Given the description of an element on the screen output the (x, y) to click on. 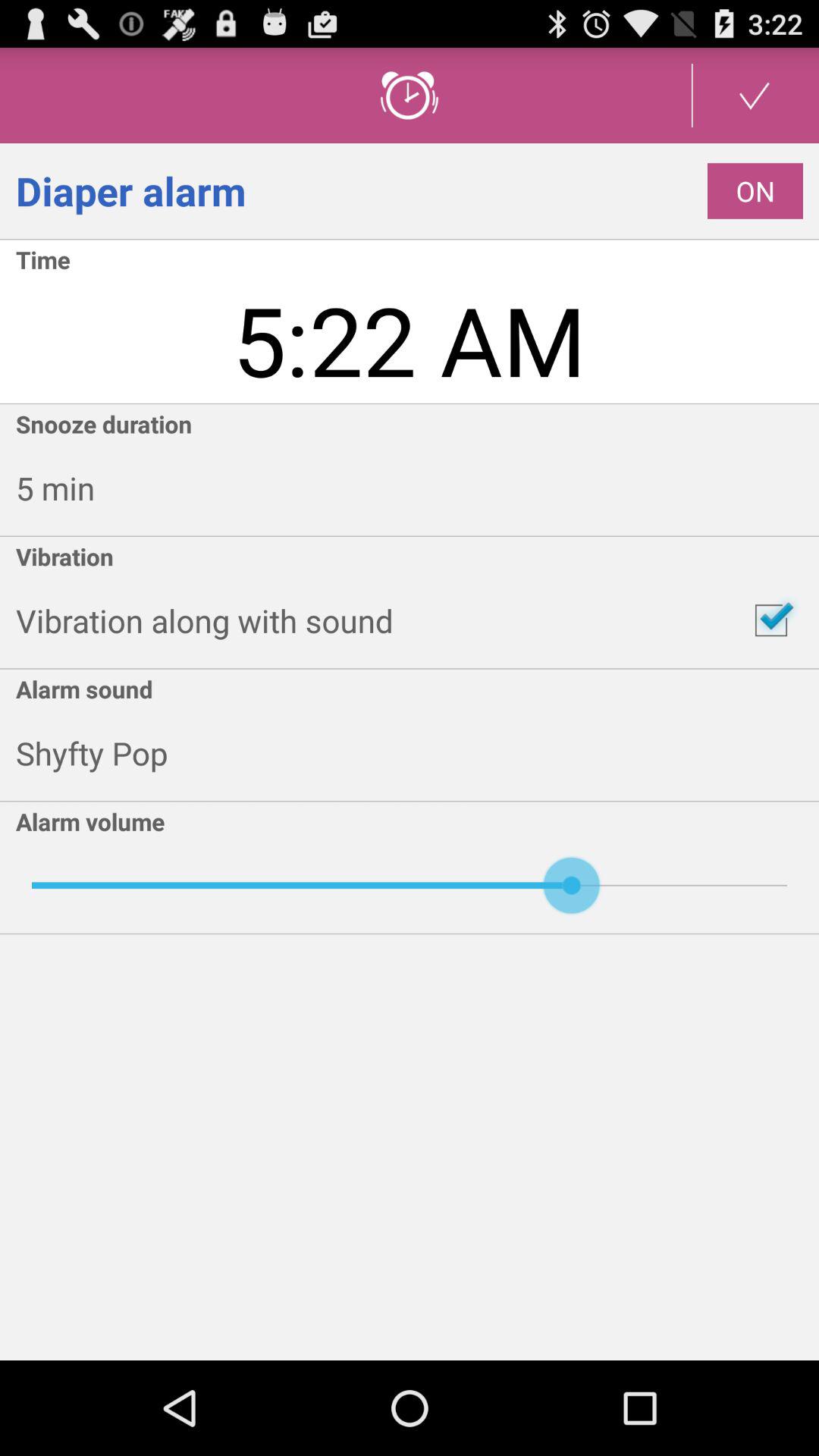
click the shyfty pop (417, 752)
